Given the description of an element on the screen output the (x, y) to click on. 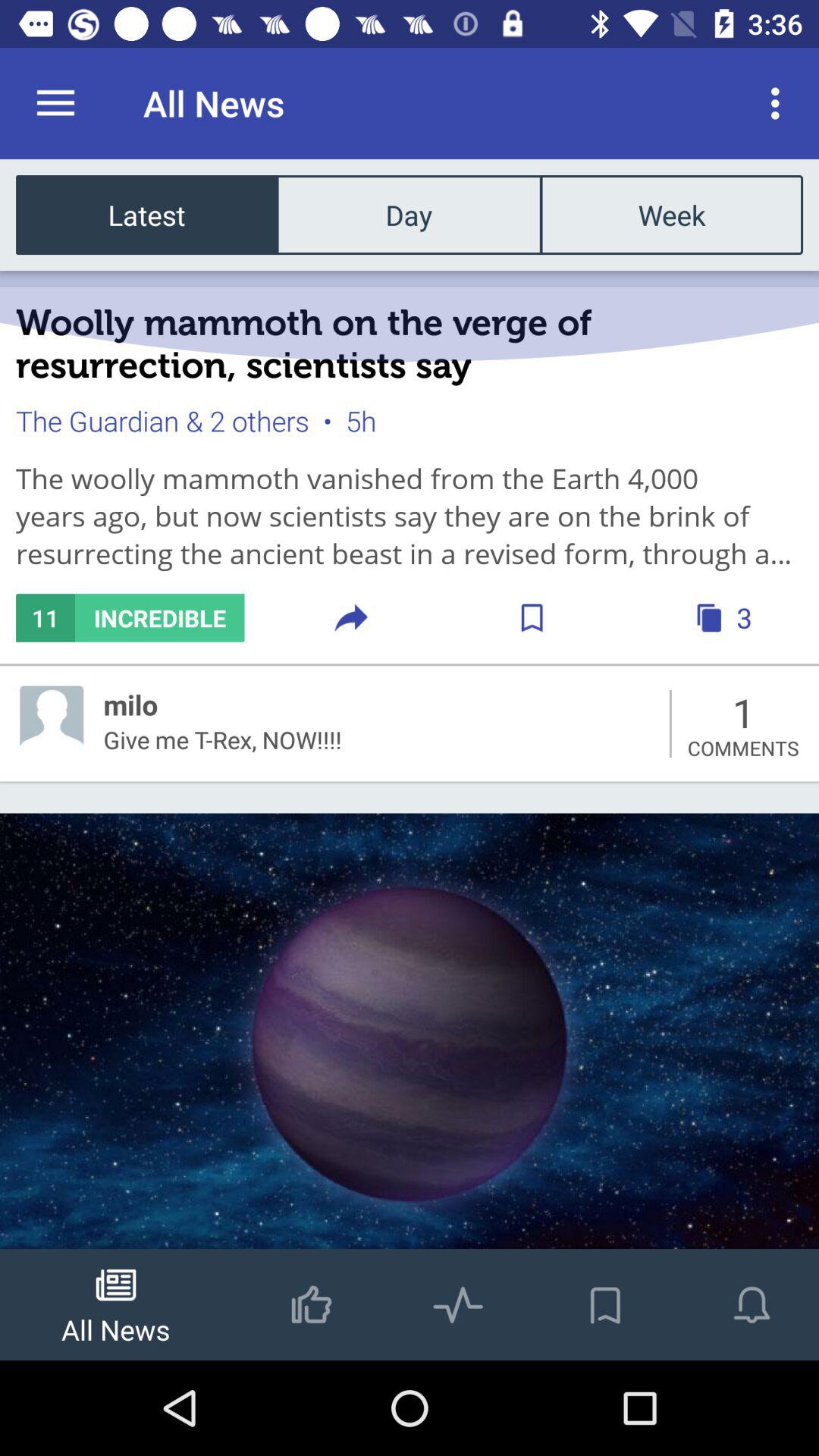
turn on the icon next to all news (779, 103)
